Given the description of an element on the screen output the (x, y) to click on. 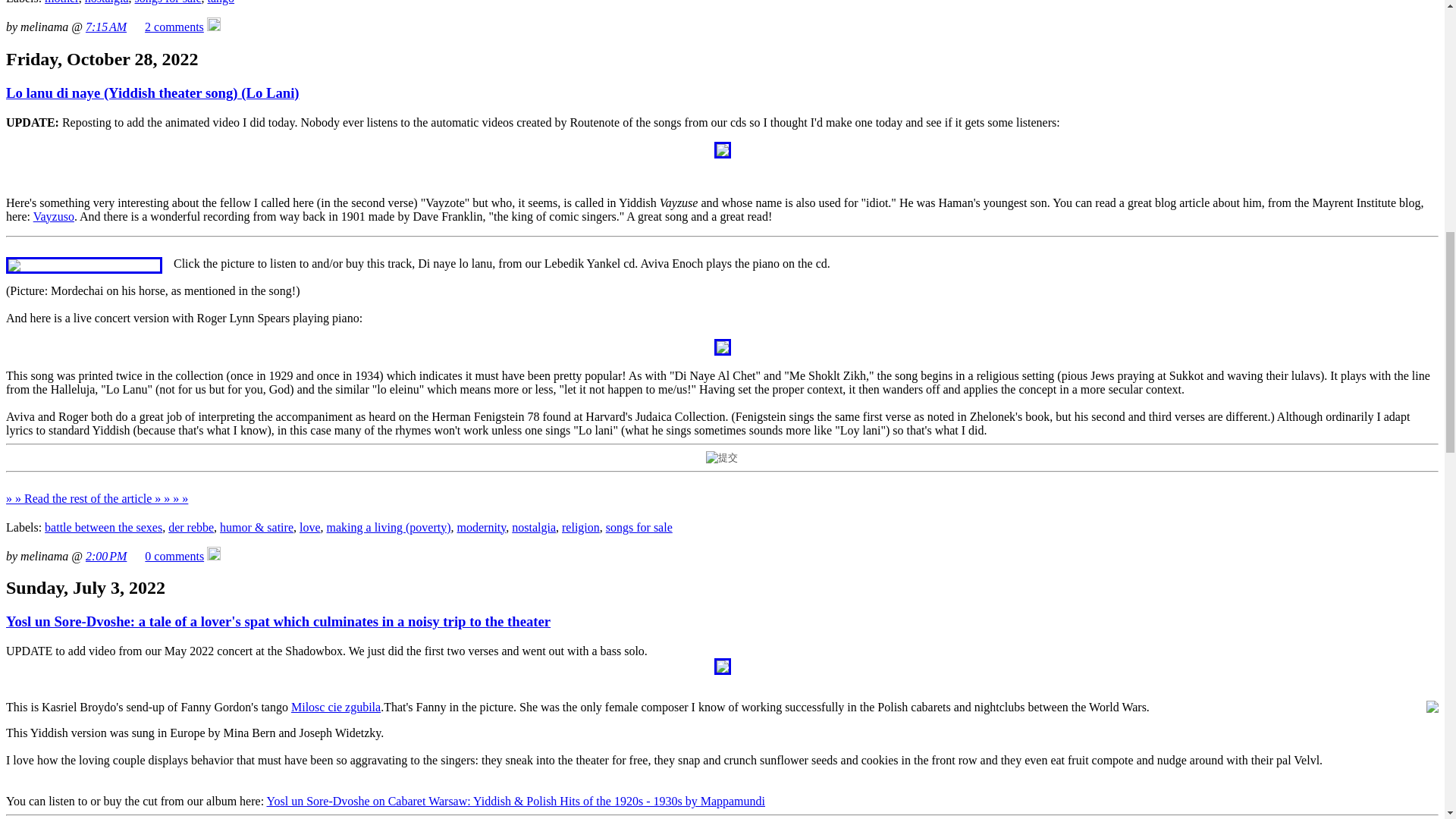
mother (61, 2)
permanent link (105, 26)
nostalgia (106, 2)
nostalgia (534, 526)
modernity (481, 526)
Edit Post (213, 555)
love (309, 526)
2 comments (173, 26)
Vayzuso (53, 215)
Edit Post (213, 26)
der rebbe (191, 526)
songs for sale (168, 2)
battle between the sexes (103, 526)
tango (221, 2)
